Given the description of an element on the screen output the (x, y) to click on. 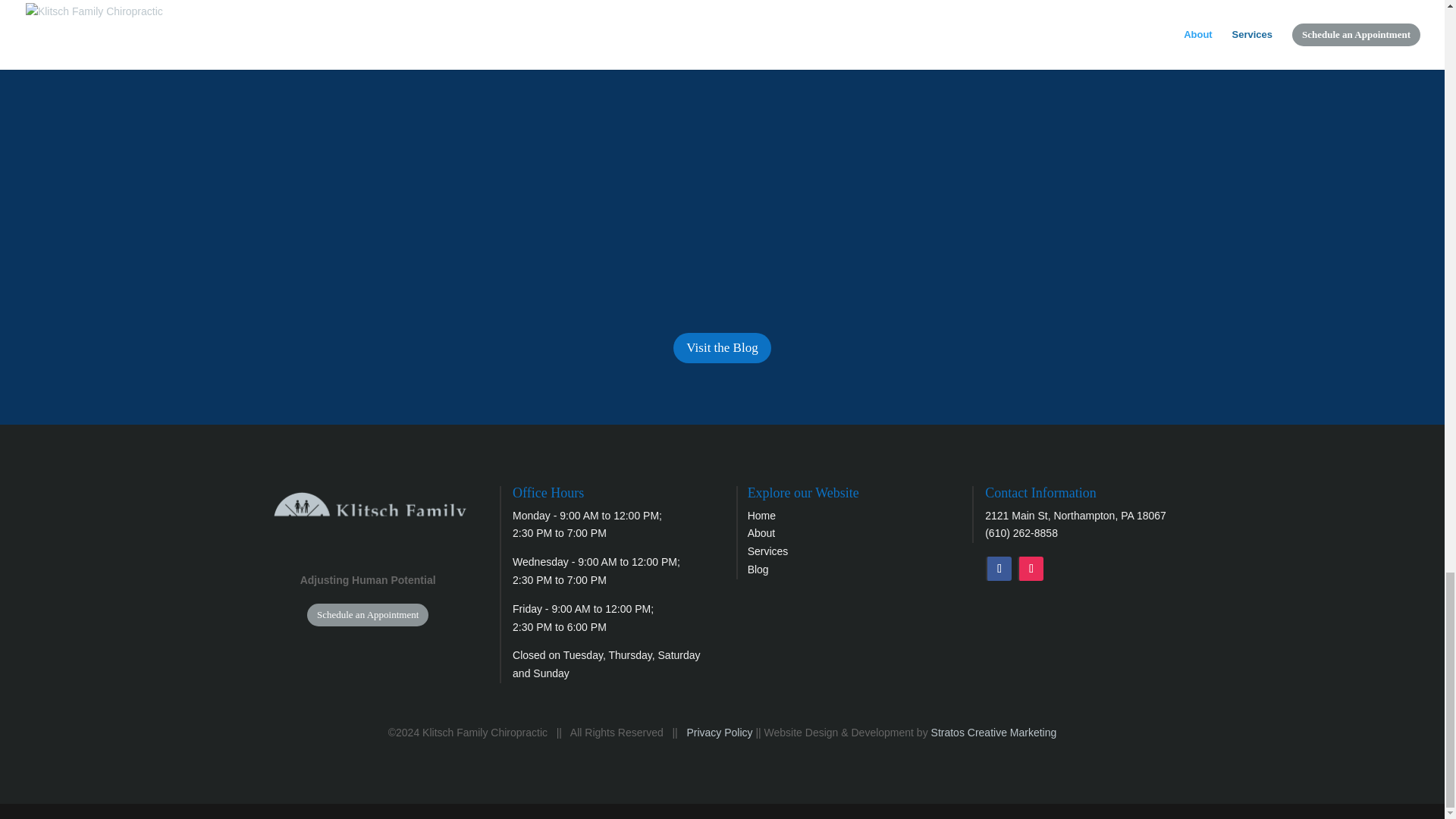
Stratos Creative Marketing (994, 732)
Follow on Instagram (1030, 568)
Schedule an Appointment (367, 614)
Home (762, 515)
About (762, 532)
Privacy Policy (720, 732)
Blog (758, 569)
Visit the Blog (721, 347)
Services (768, 551)
Follow on Facebook (998, 568)
